Given the description of an element on the screen output the (x, y) to click on. 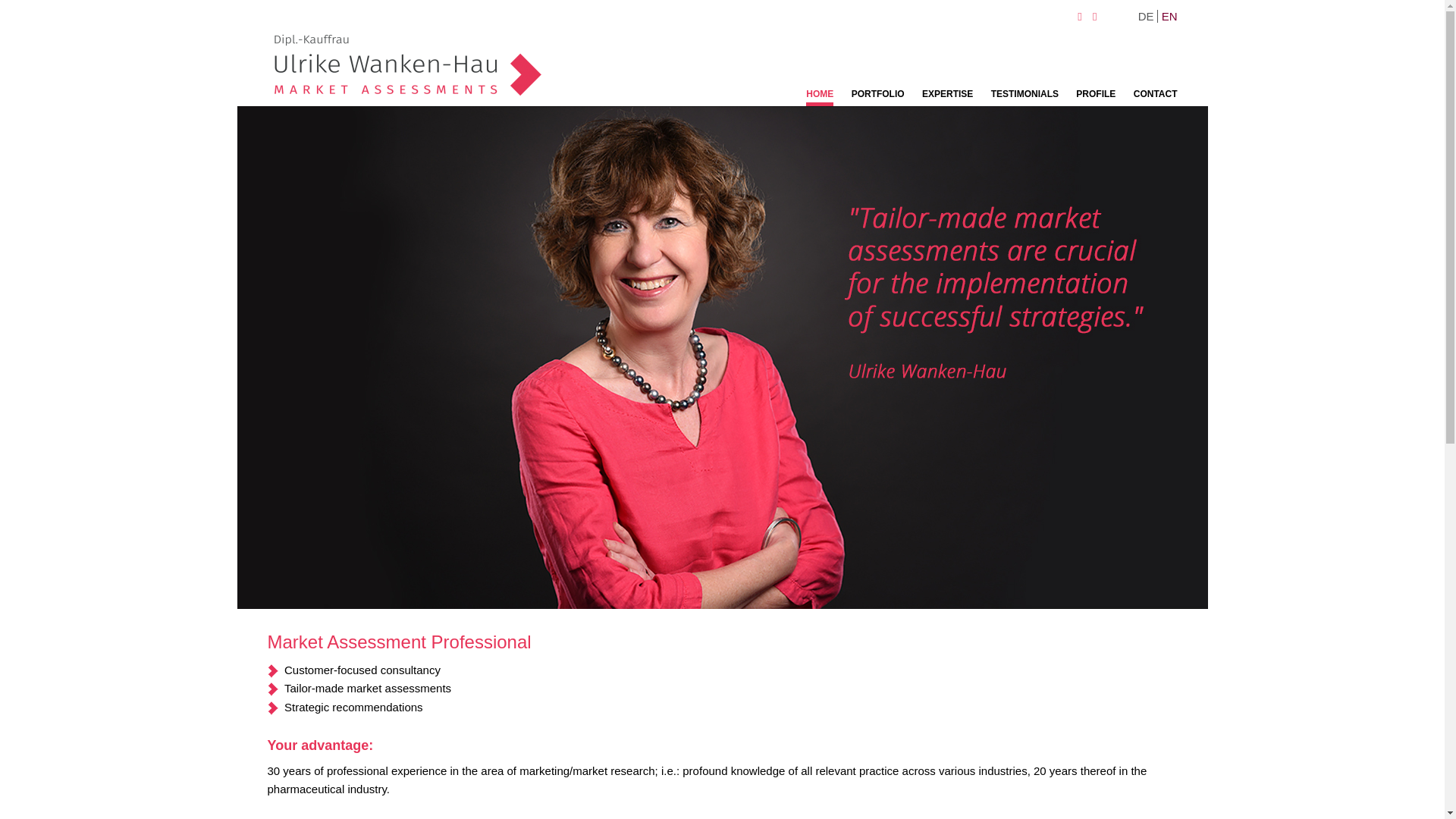
HOME (819, 95)
EN (1169, 15)
CONTACT (1155, 95)
DE (1148, 15)
TESTIMONIALS (1024, 95)
Ulrike Wanken-Hau (406, 65)
PROFILE (1095, 95)
PORTFOLIO (877, 95)
EXPERTISE (946, 95)
